Given the description of an element on the screen output the (x, y) to click on. 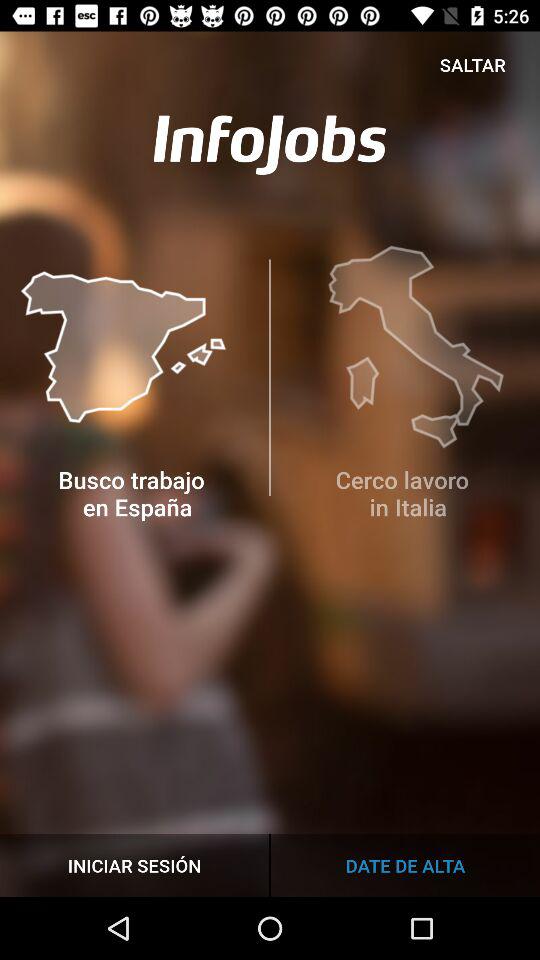
choose date de alta at the bottom right corner (405, 864)
